Given the description of an element on the screen output the (x, y) to click on. 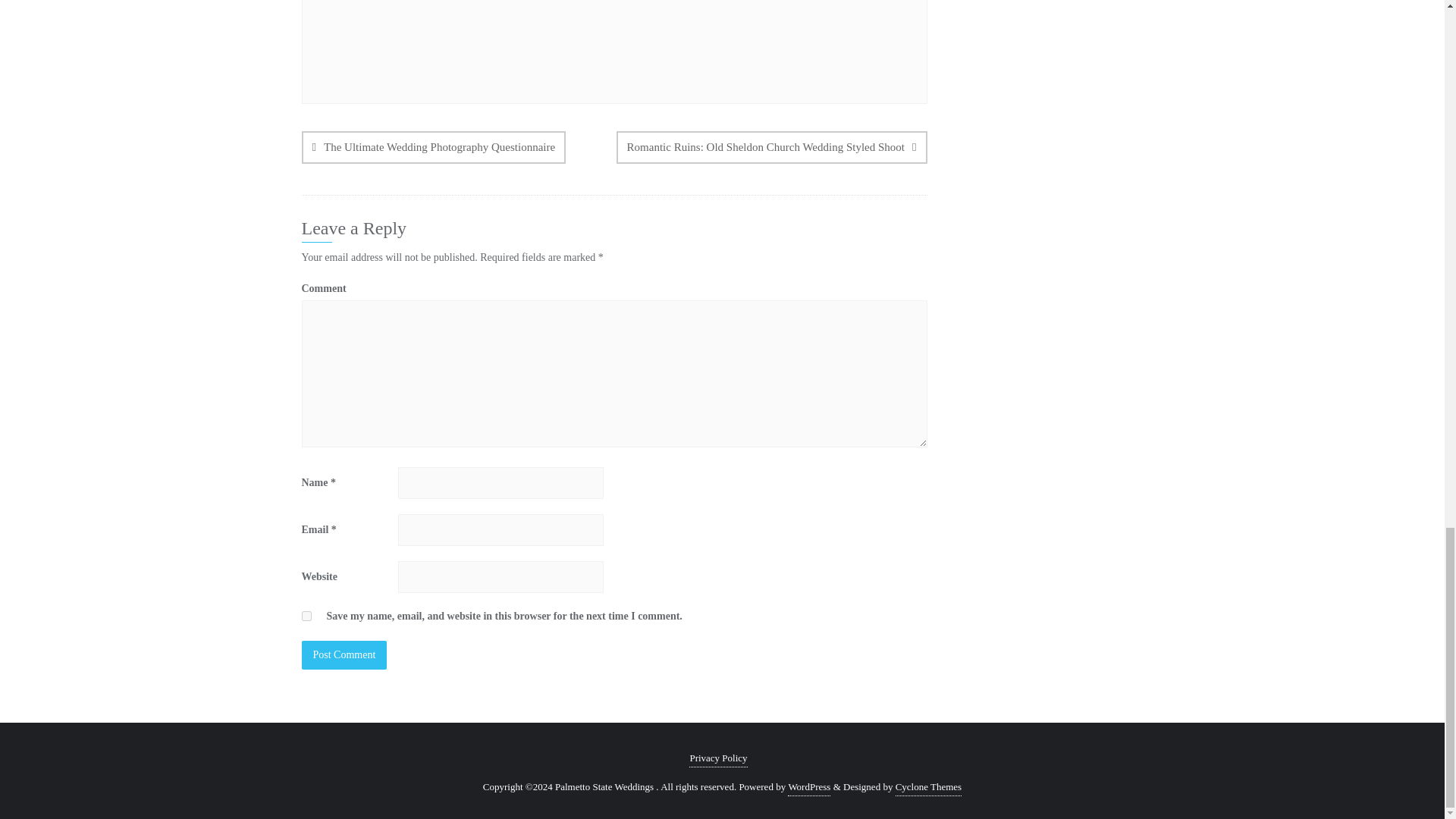
Romantic Ruins: Old Sheldon Church Wedding Styled Shoot (771, 147)
yes (306, 615)
The Ultimate Wedding Photography Questionnaire (433, 147)
Post Comment (344, 654)
